Given the description of an element on the screen output the (x, y) to click on. 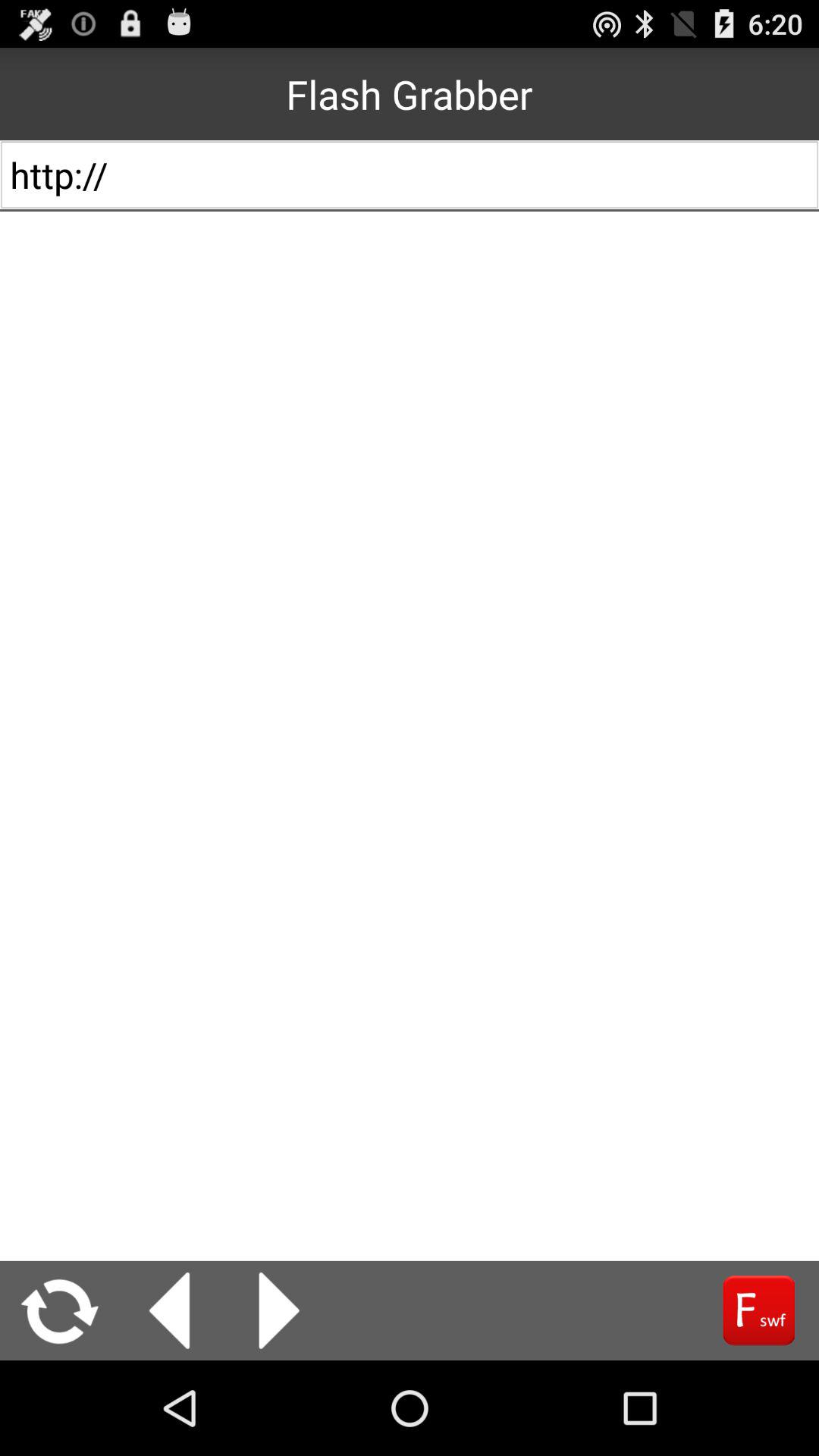
f swf shock wave flash (758, 1310)
